Given the description of an element on the screen output the (x, y) to click on. 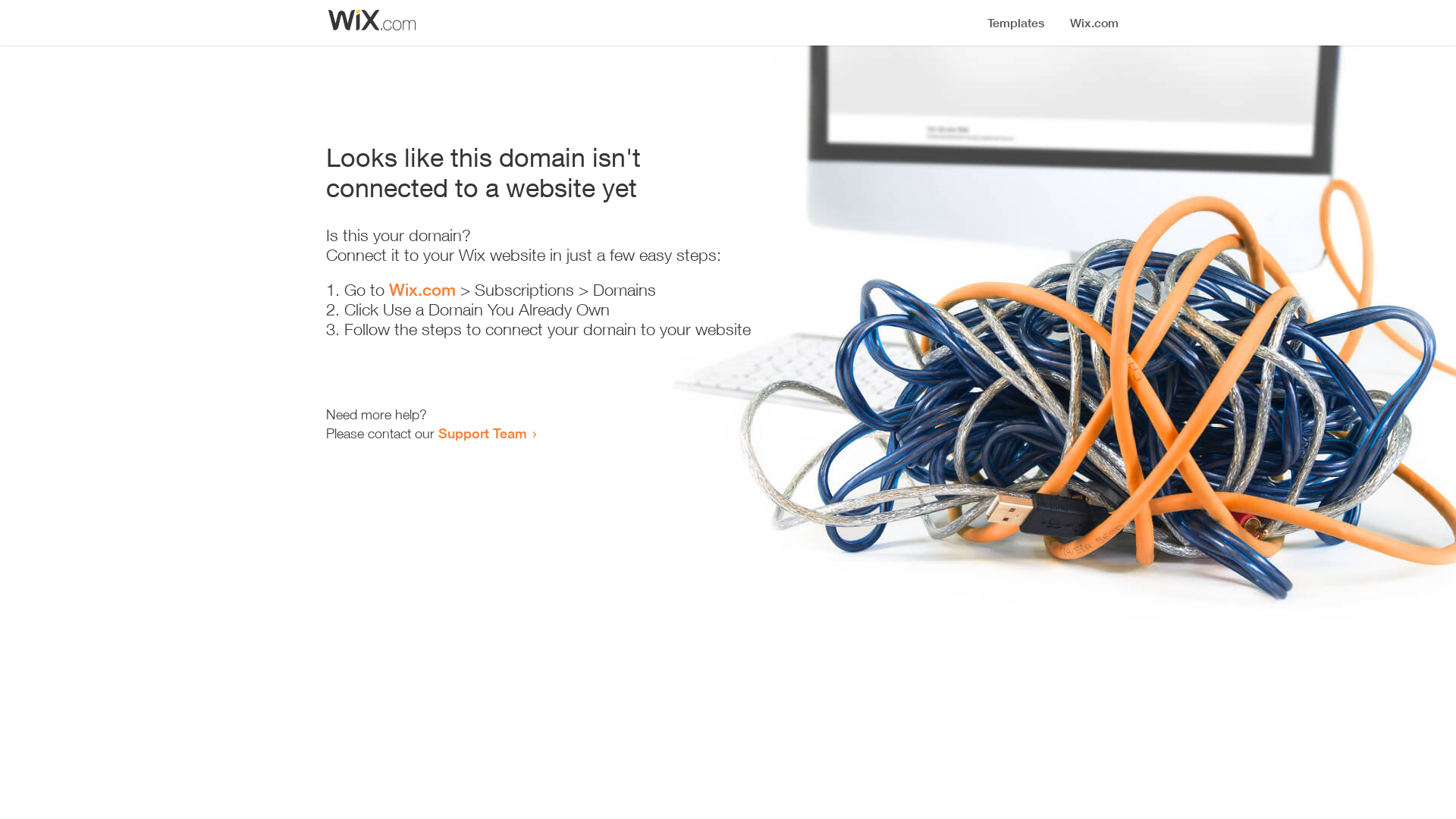
Wix.com Element type: text (422, 289)
Support Team Element type: text (482, 432)
